Given the description of an element on the screen output the (x, y) to click on. 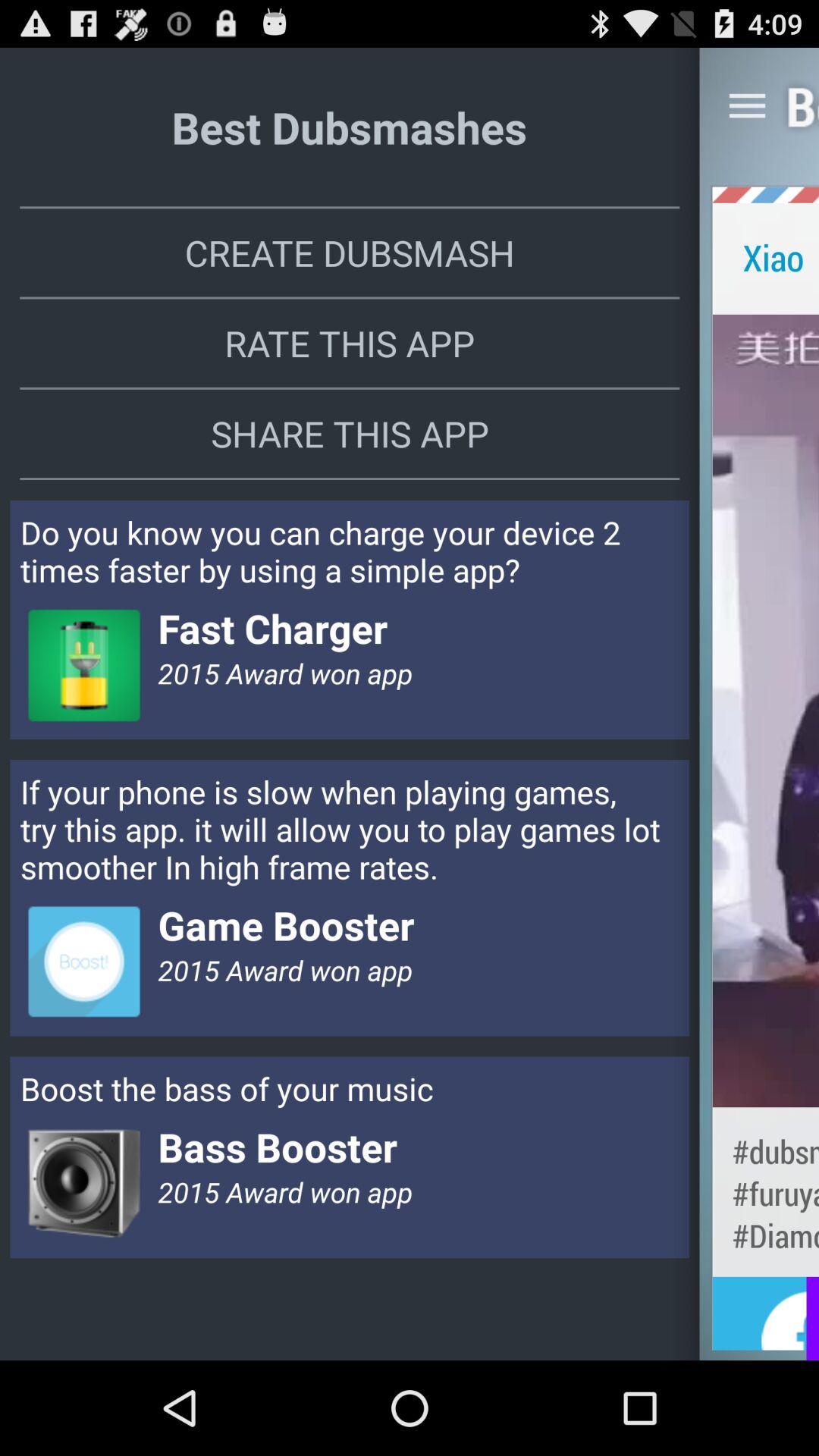
launch the app to the right of create dubsmash item (765, 195)
